Given the description of an element on the screen output the (x, y) to click on. 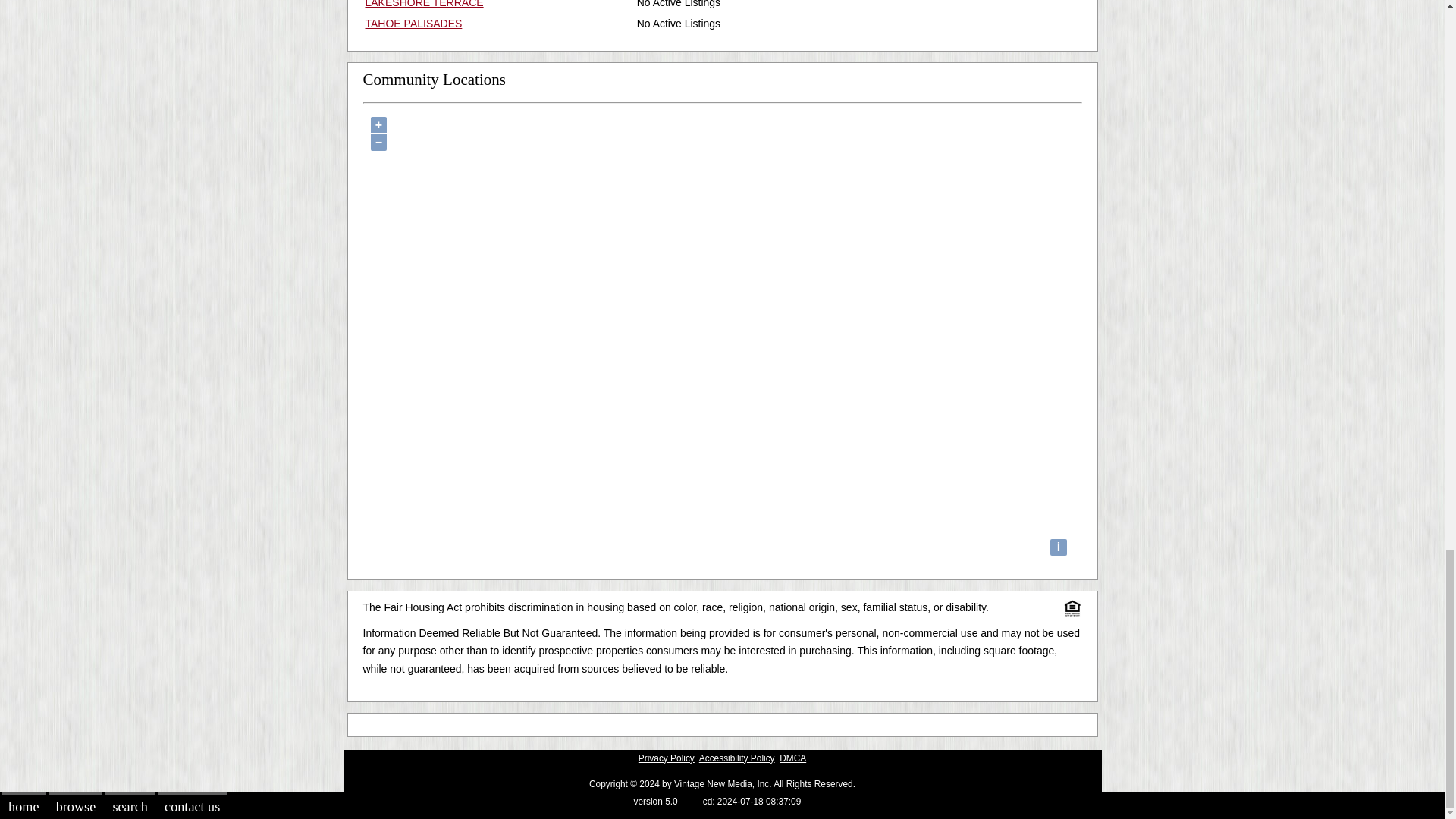
LAKESHORE TERRACE Condos For Sale (424, 4)
LAKESHORE TERRACE (424, 4)
TAHOE PALISADES (414, 23)
i (1058, 547)
